Given the description of an element on the screen output the (x, y) to click on. 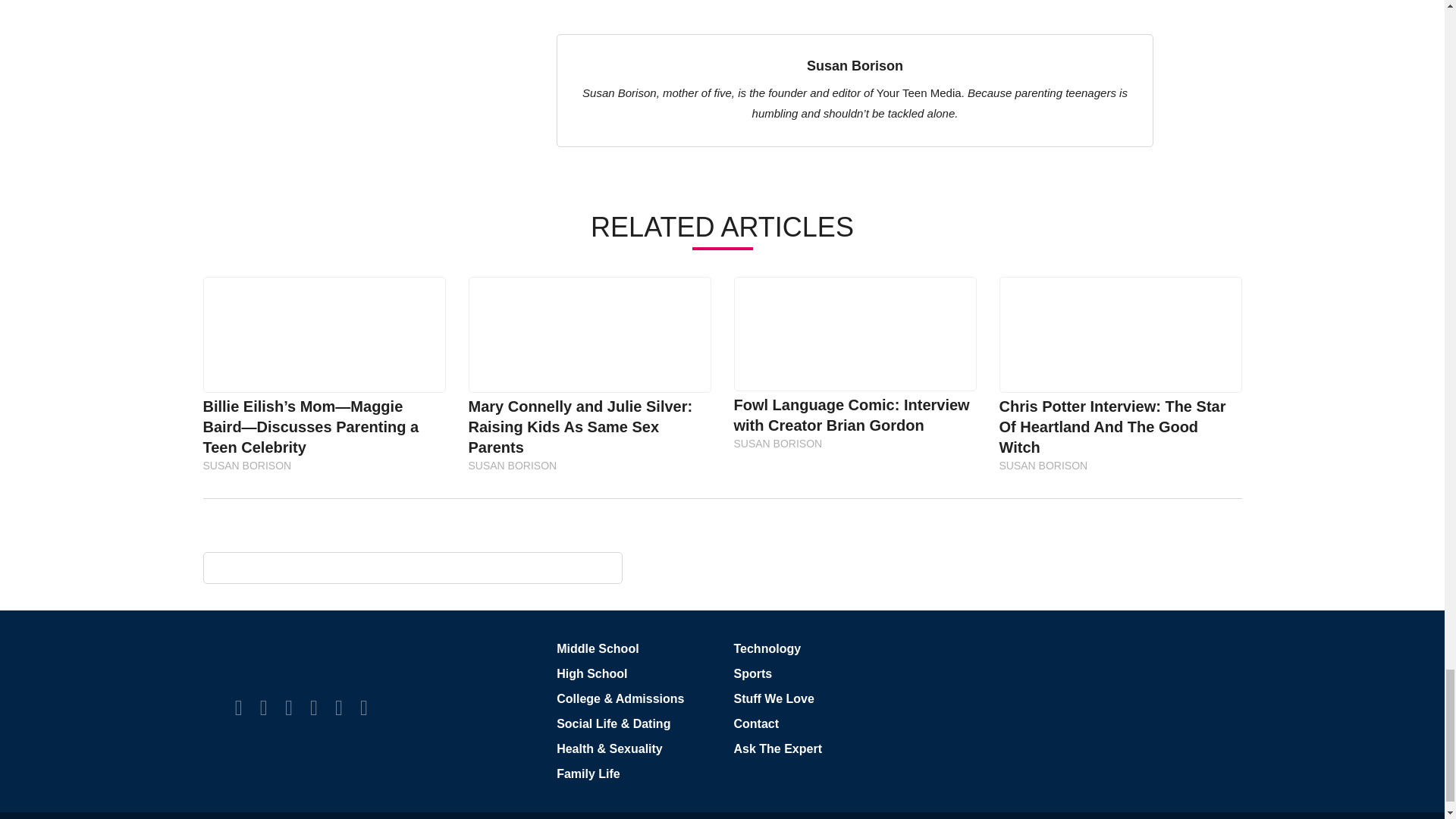
Instagram (288, 707)
Fowl Language Comic: Interview with Creator Brian Gordon (854, 333)
Your Teen Podcast (363, 707)
Twitter (263, 707)
YouTube (338, 707)
Pinterest (313, 707)
Facebook (238, 707)
